Given the description of an element on the screen output the (x, y) to click on. 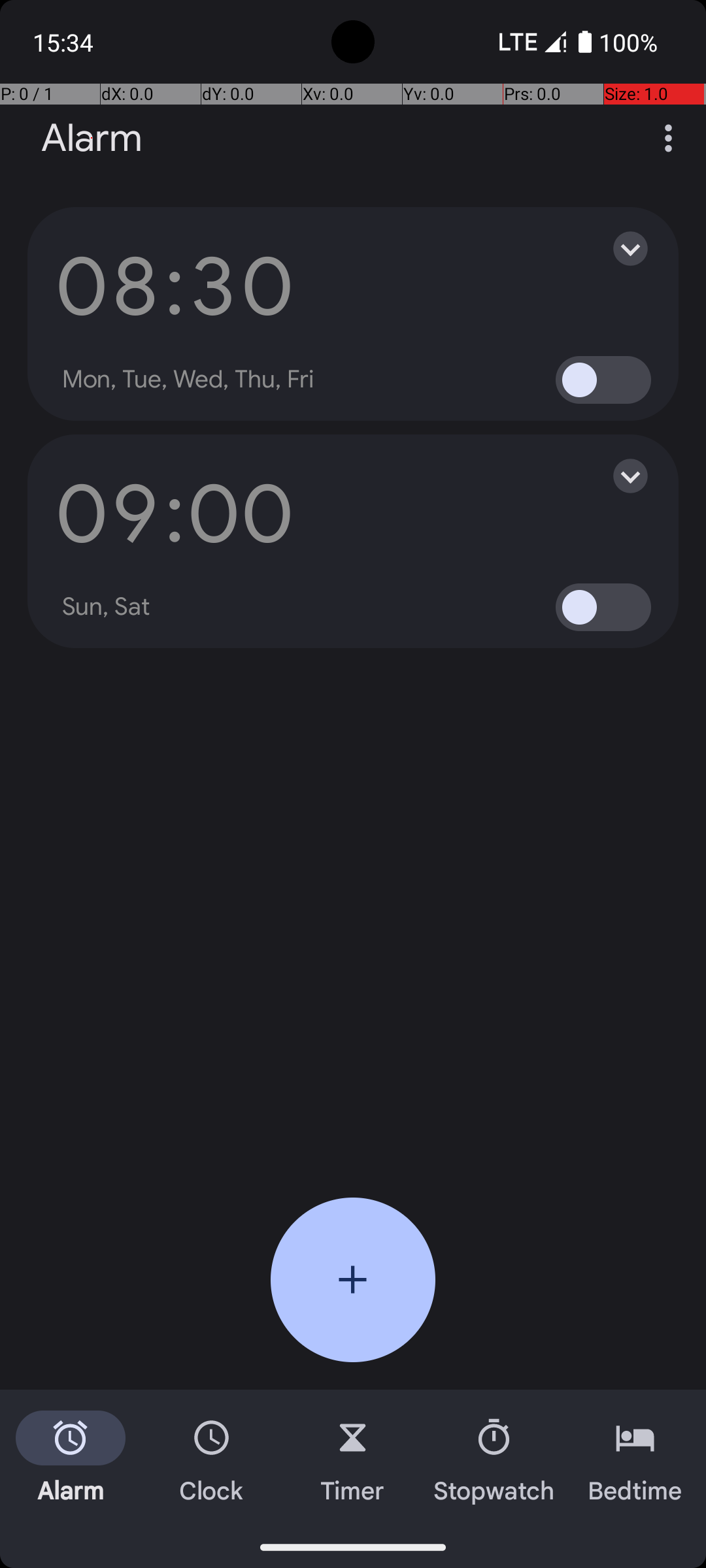
Add alarm Element type: android.widget.Button (352, 1279)
08:30 Element type: android.widget.TextView (174, 286)
Expand alarm Element type: android.widget.ImageButton (616, 248)
Mon, Tue, Wed, Thu, Fri Element type: android.widget.TextView (187, 379)
Sun, Sat Element type: android.widget.TextView (106, 606)
